Given the description of an element on the screen output the (x, y) to click on. 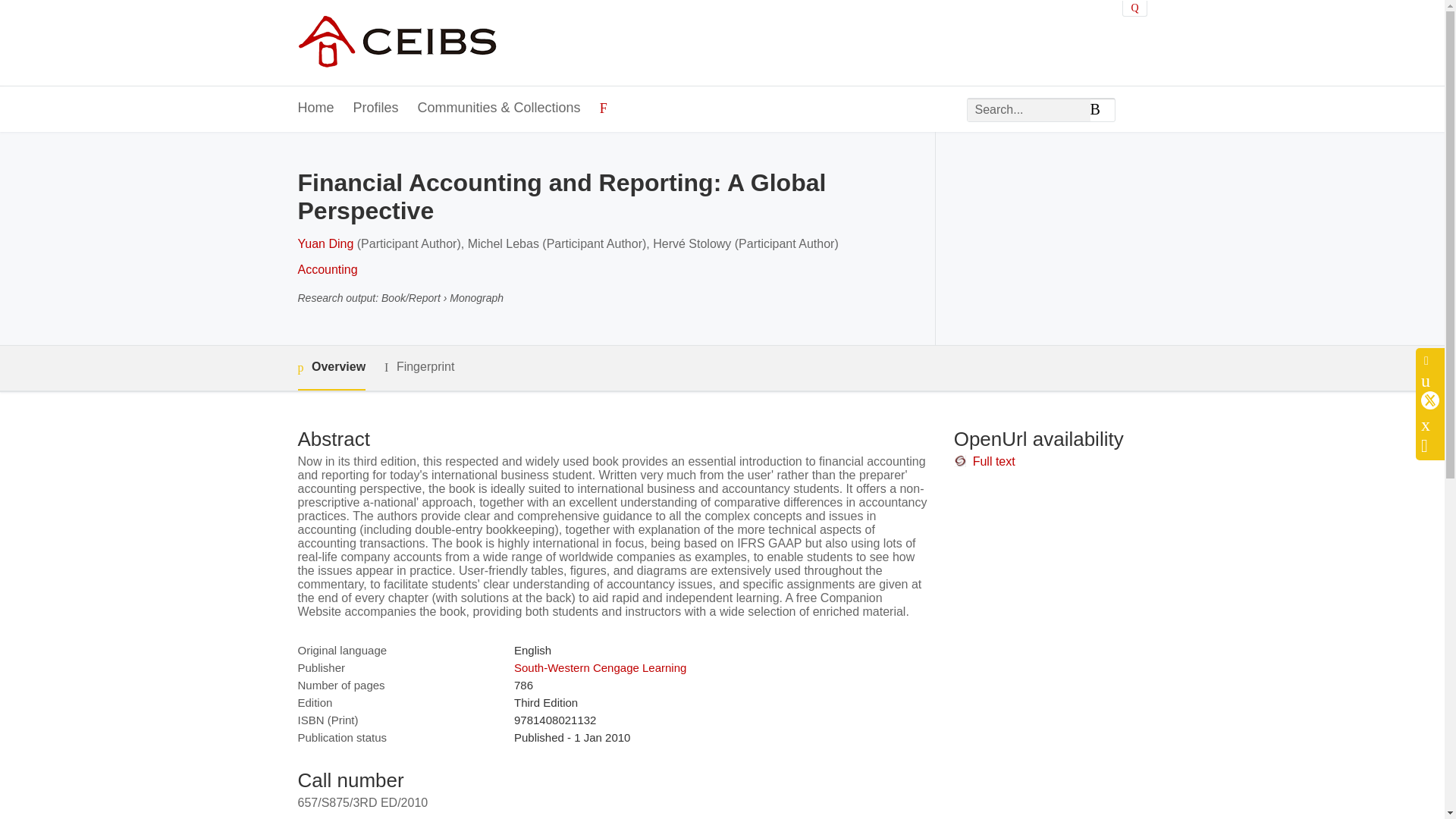
Profiles (375, 108)
Fingerprint (419, 367)
Yuan Ding (325, 243)
South-Western Cengage Learning (599, 667)
Overview (331, 367)
Accounting (326, 269)
Full text (993, 461)
China Europe International Business School Home (396, 43)
